Given the description of an element on the screen output the (x, y) to click on. 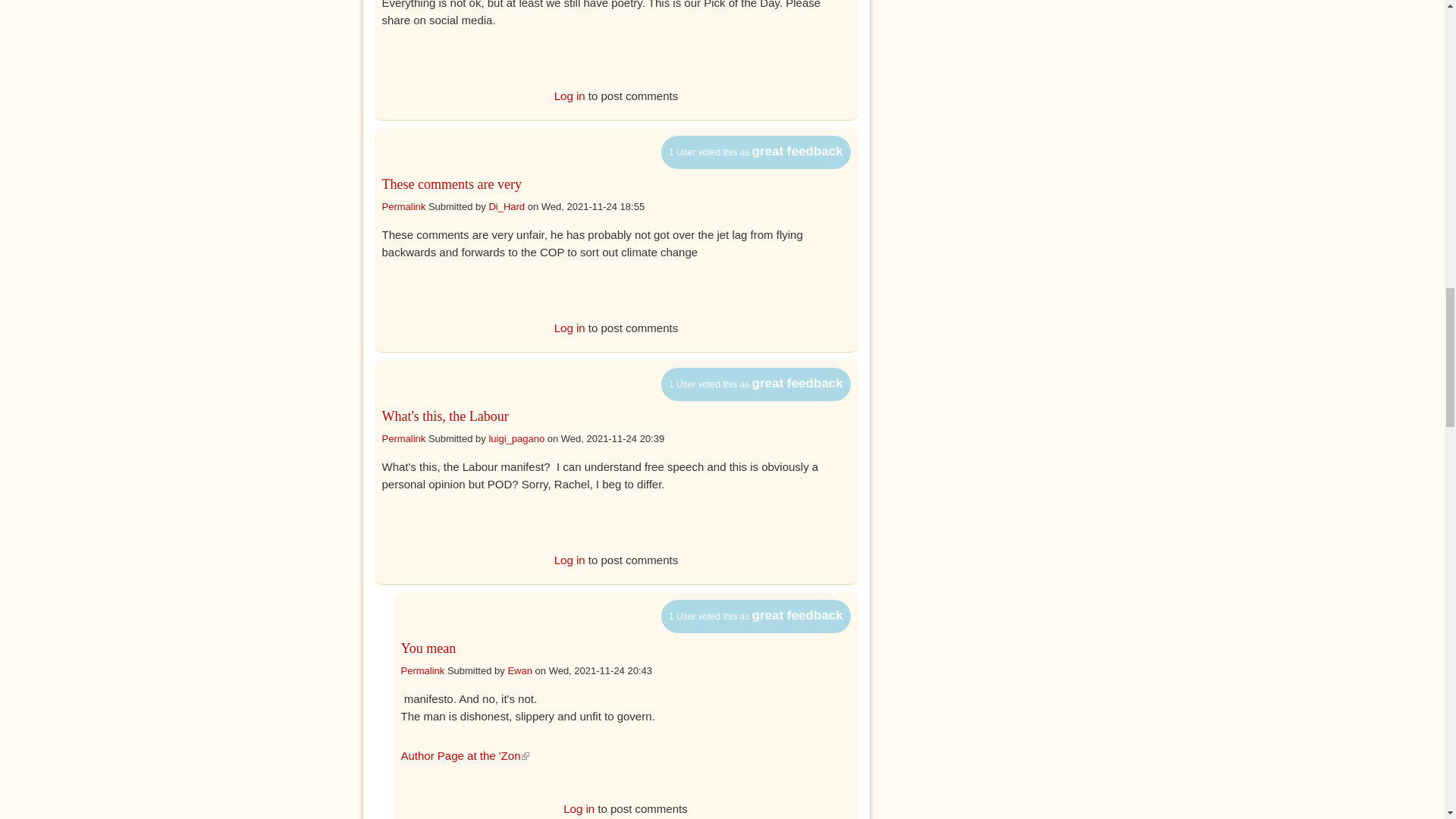
View user profile. (515, 437)
Log in (569, 95)
View user profile. (505, 205)
These comments are very (451, 183)
Permalink (403, 205)
Log in (569, 327)
View user profile. (519, 669)
